Given the description of an element on the screen output the (x, y) to click on. 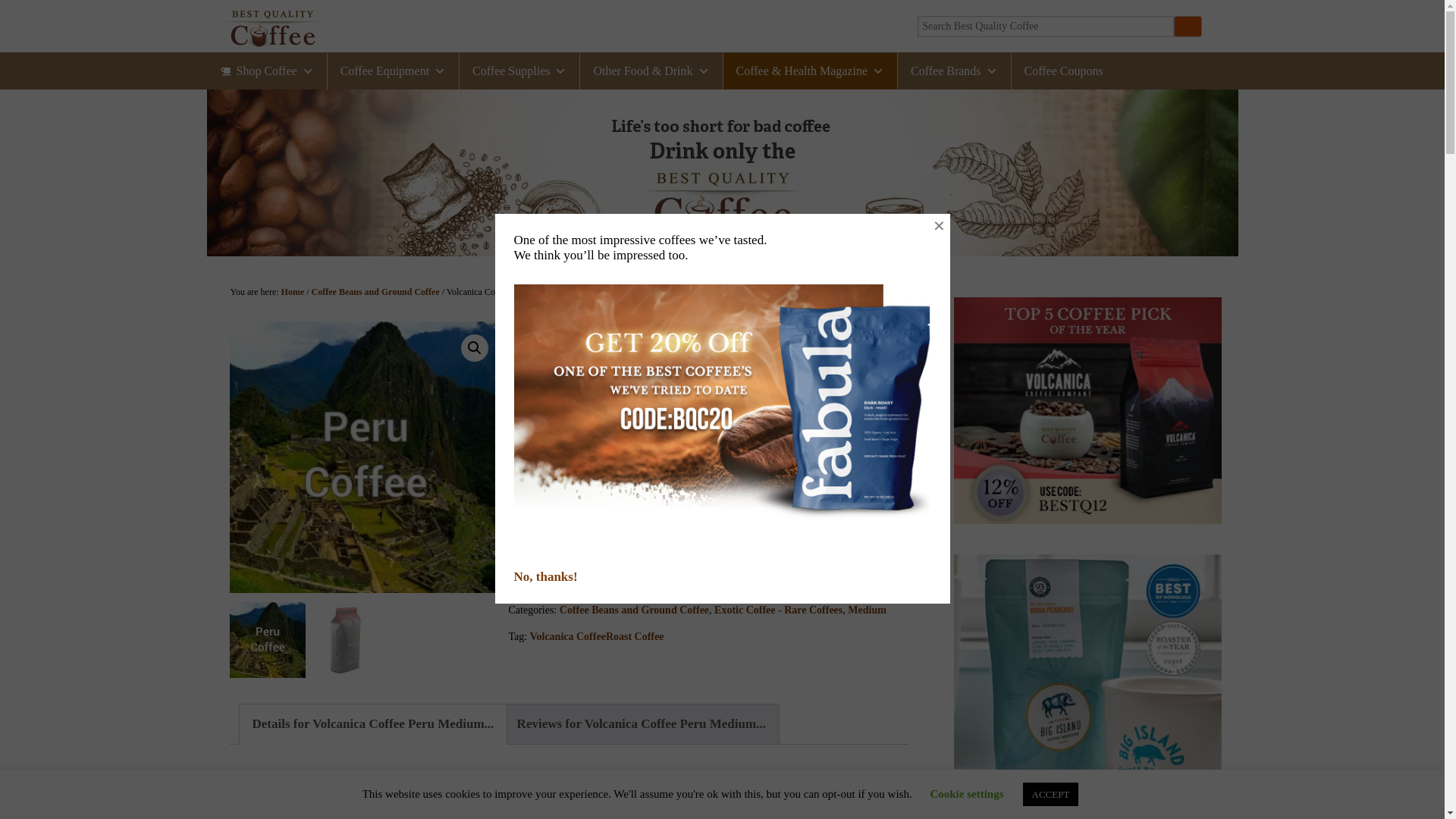
Shop Coffee (266, 71)
Coffee Coupons (1063, 71)
Coffee Equipment (392, 71)
Volcanica Coffee Peru Medium Roast 16oz (364, 456)
icon-shopcoffee (954, 71)
Big Island Roasters Coffee (1087, 686)
Coffee Beans and Ground Coffee (375, 291)
Volcanica Coffee Discount Code (1087, 410)
